Given the description of an element on the screen output the (x, y) to click on. 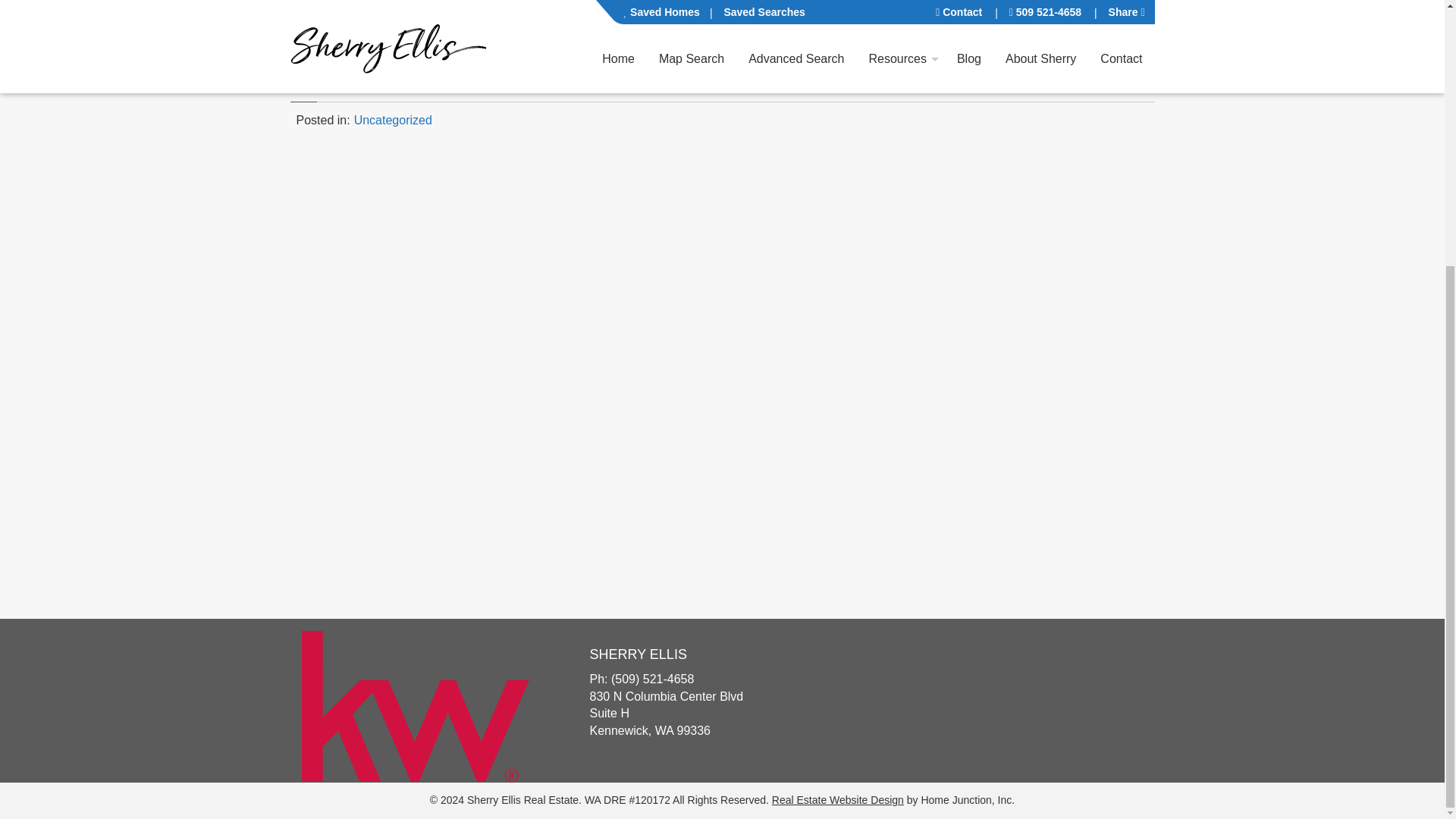
See more posts in the Uncategorized category (392, 119)
